Given the description of an element on the screen output the (x, y) to click on. 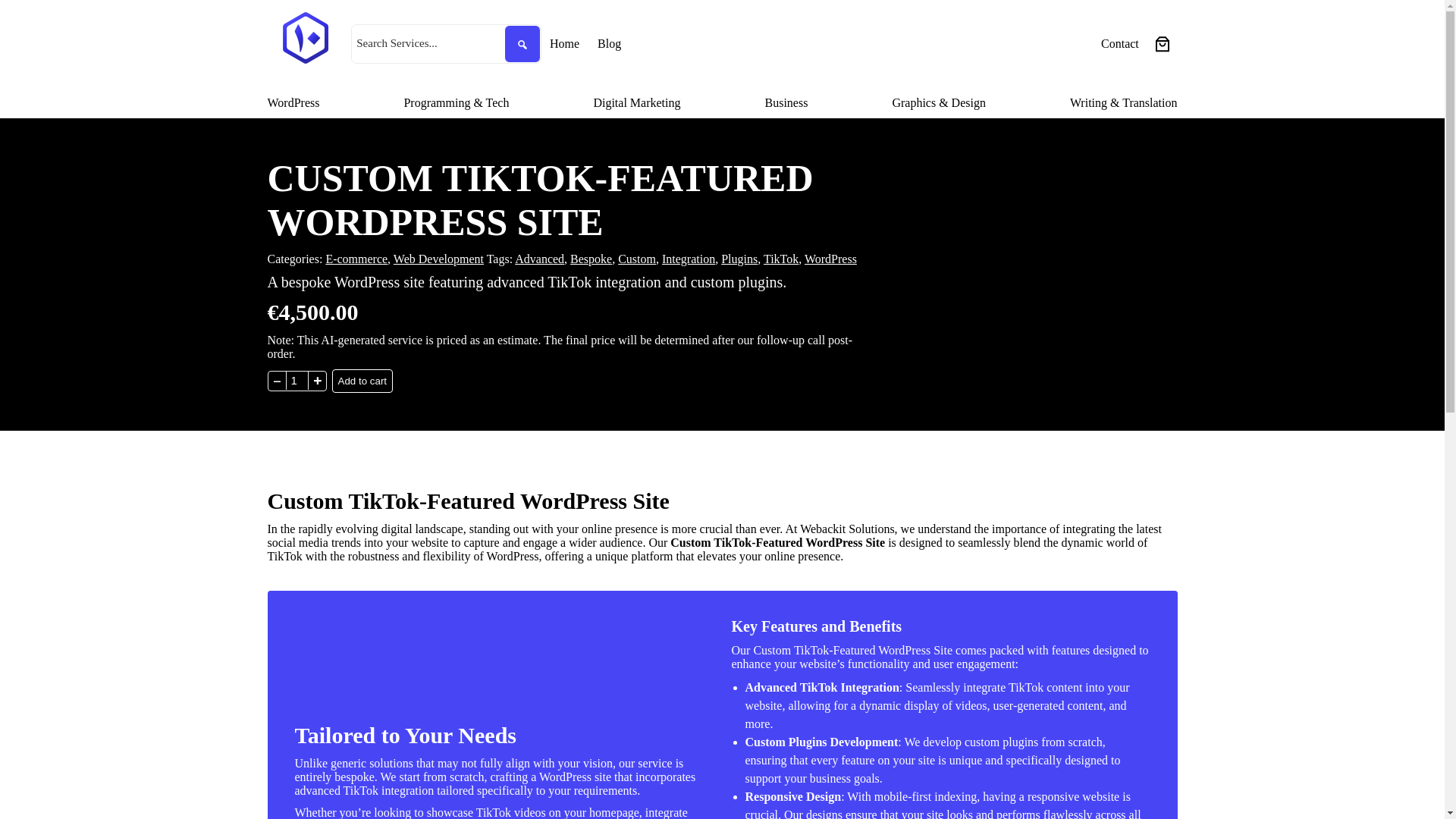
Web Development (438, 258)
Contact (1119, 44)
Blog (608, 44)
1 (296, 380)
Add to cart (362, 381)
Bespoke (590, 258)
Plugins (738, 258)
Advanced (539, 258)
Business (786, 103)
WordPress (292, 103)
E-commerce (355, 258)
Home (564, 44)
Integration (688, 258)
TikTok (779, 258)
WordPress (831, 258)
